Given the description of an element on the screen output the (x, y) to click on. 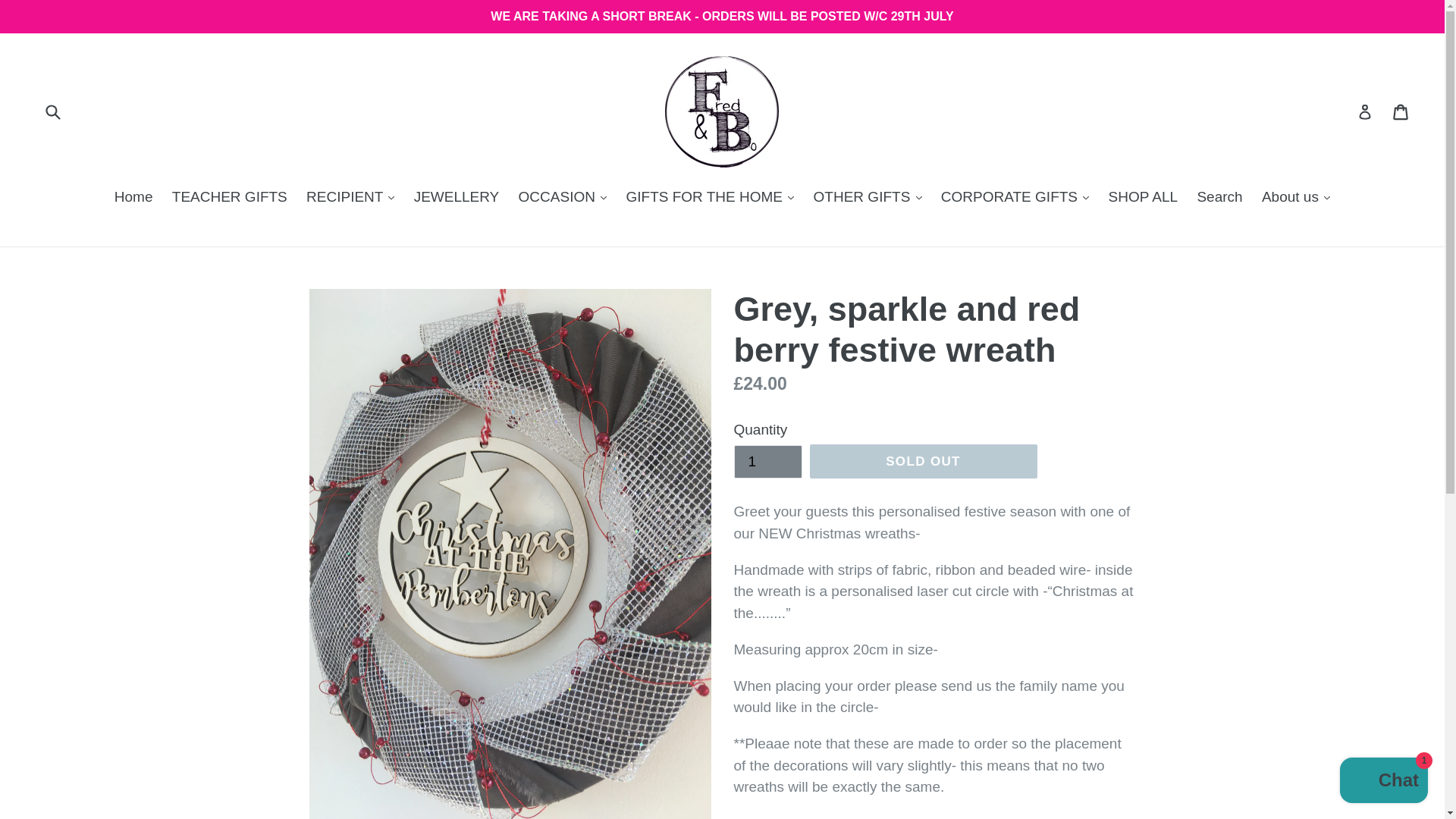
Shopify online store chat (1383, 781)
1 (767, 461)
